Given the description of an element on the screen output the (x, y) to click on. 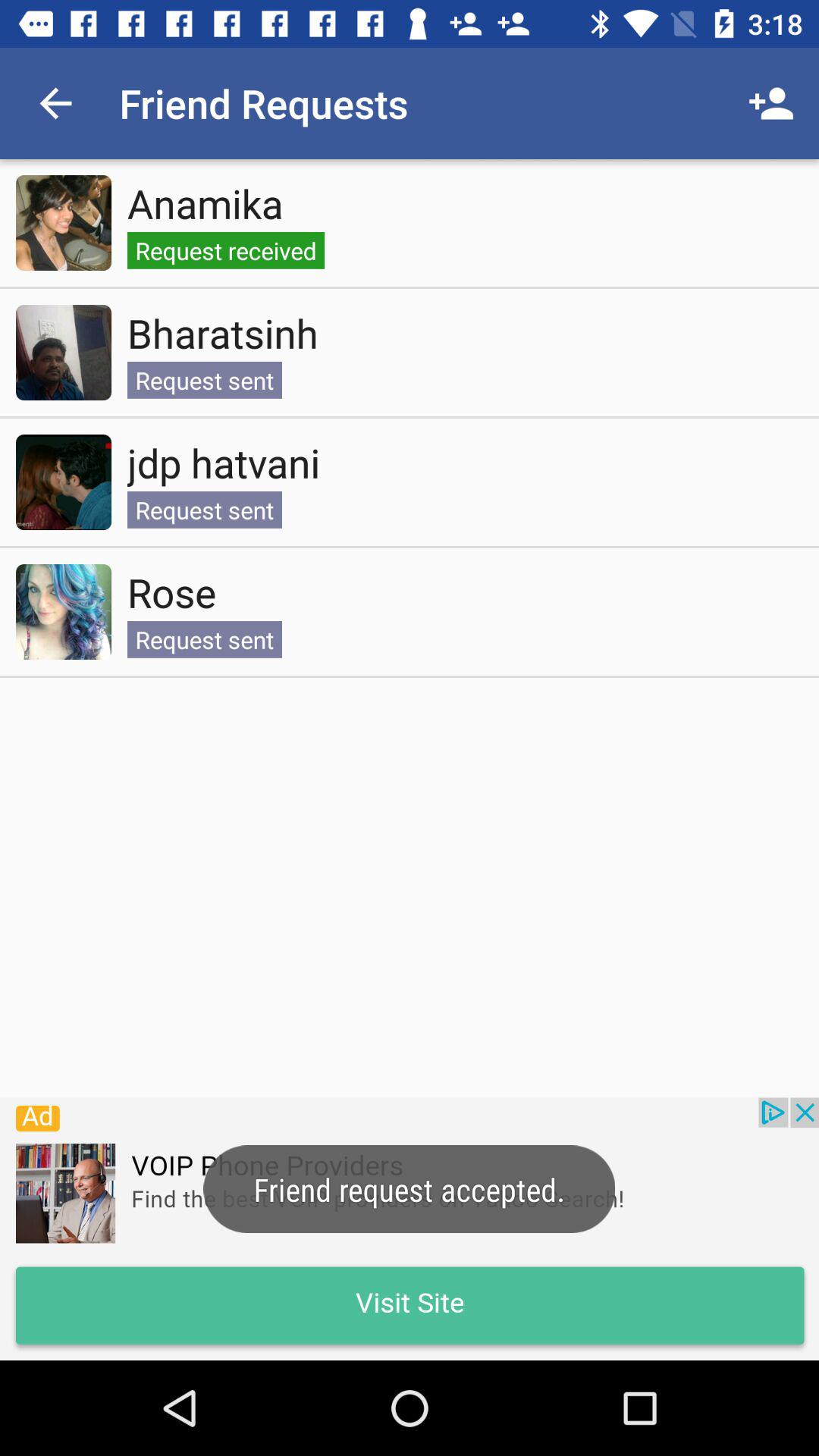
click to view friend request (63, 222)
